Given the description of an element on the screen output the (x, y) to click on. 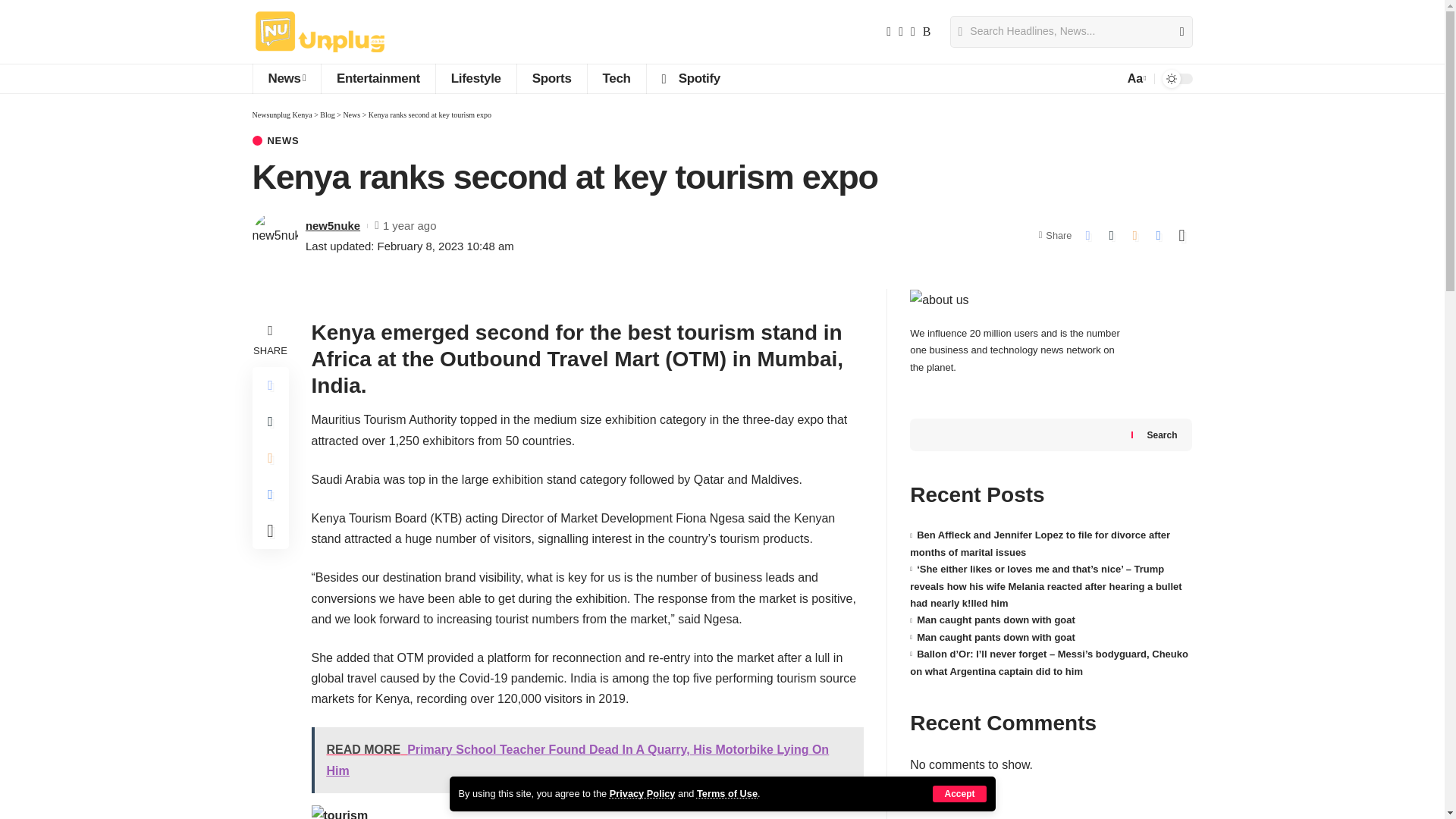
Aa (1135, 77)
News (285, 78)
Lifestyle (475, 78)
Go to Newsunplug Kenya. (281, 114)
Entertainment (377, 78)
Search (1175, 31)
Terms of Use (727, 793)
Spotify (690, 78)
Tech (616, 78)
Go to Blog. (327, 114)
Accept (959, 793)
Privacy Policy (642, 793)
Go to the News Category archives. (350, 114)
Sports (551, 78)
Newsunplug Kenya (319, 31)
